Given the description of an element on the screen output the (x, y) to click on. 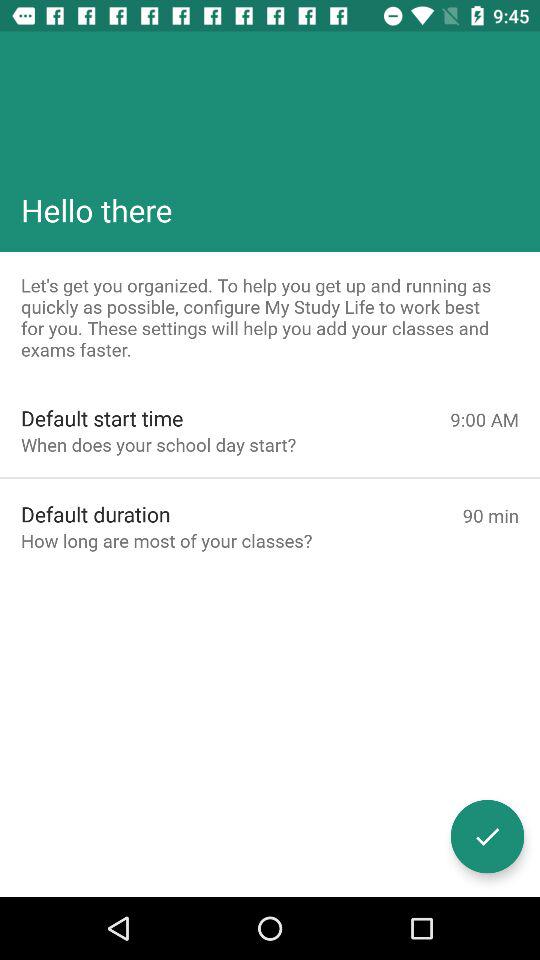
accept these settings (487, 836)
